Given the description of an element on the screen output the (x, y) to click on. 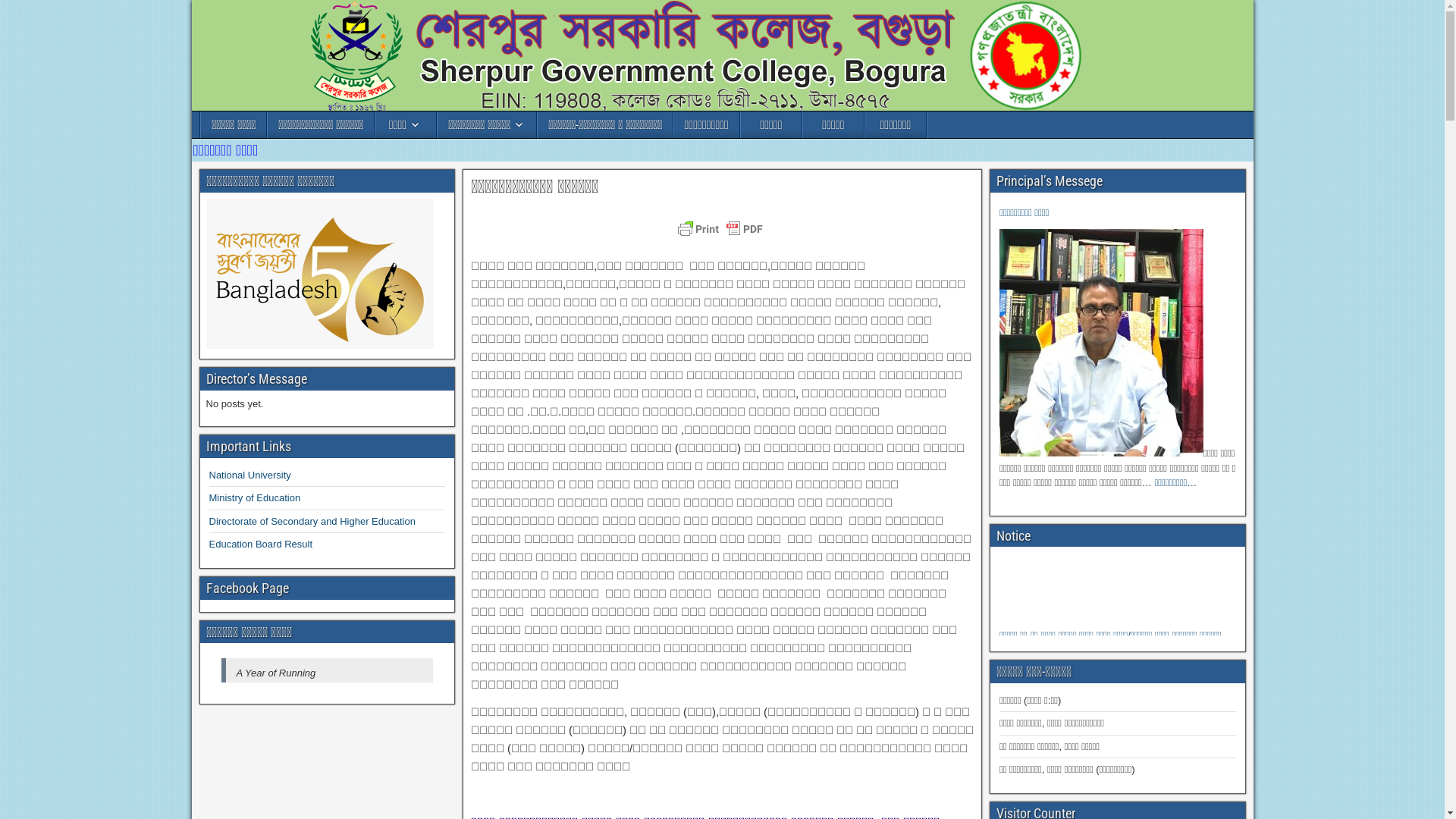
National University Element type: text (250, 474)
Directorate of Secondary and Higher Education Element type: text (312, 521)
Ministry of Education Element type: text (255, 497)
Education Board Result Element type: text (261, 543)
Printer Friendly, PDF & Email Element type: hover (722, 236)
